Given the description of an element on the screen output the (x, y) to click on. 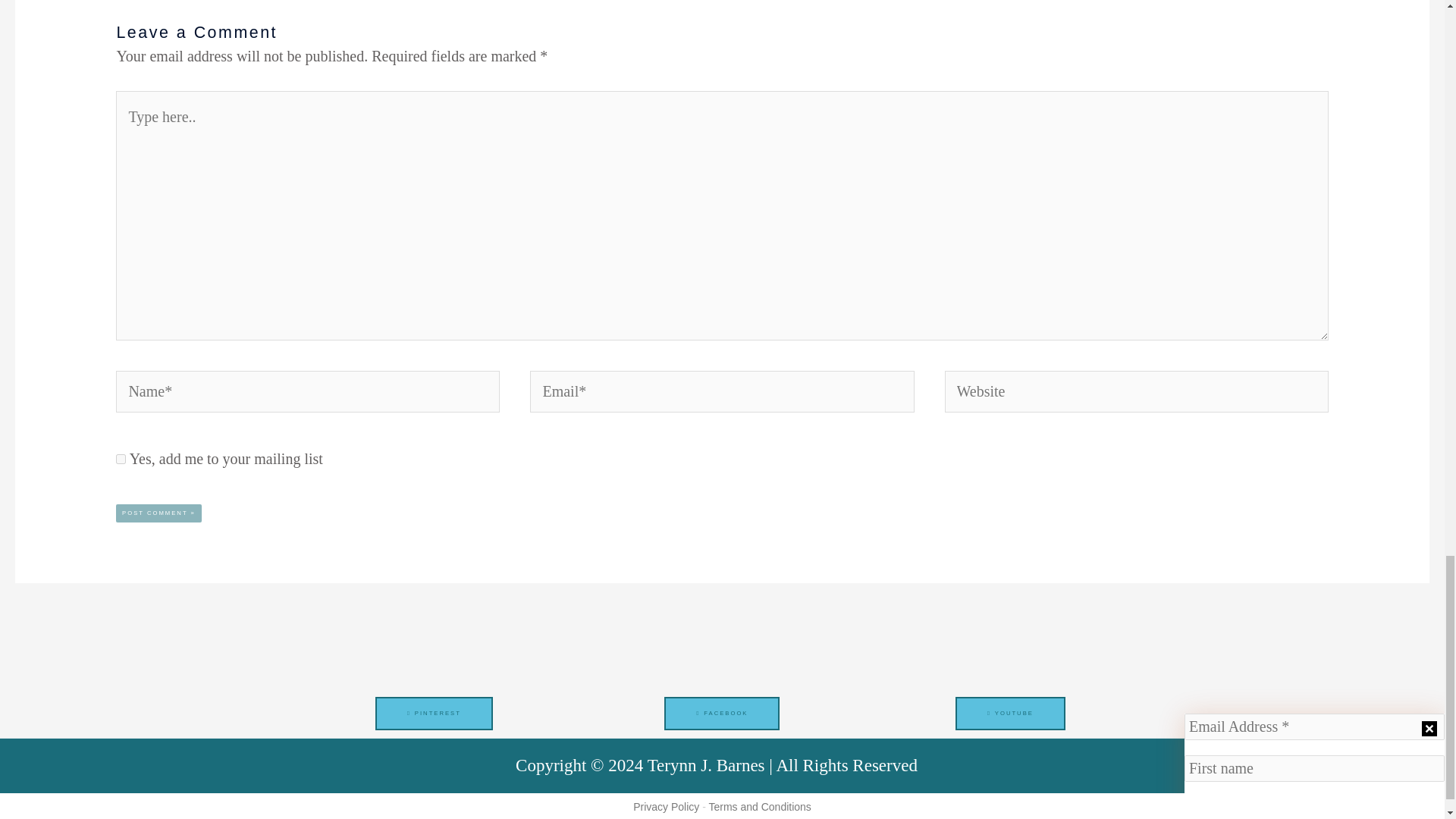
PINTEREST (434, 713)
1 (120, 459)
YOUTUBE (1010, 713)
FACEBOOK (720, 713)
Terms and Conditions (758, 806)
Privacy Policy (665, 806)
